Given the description of an element on the screen output the (x, y) to click on. 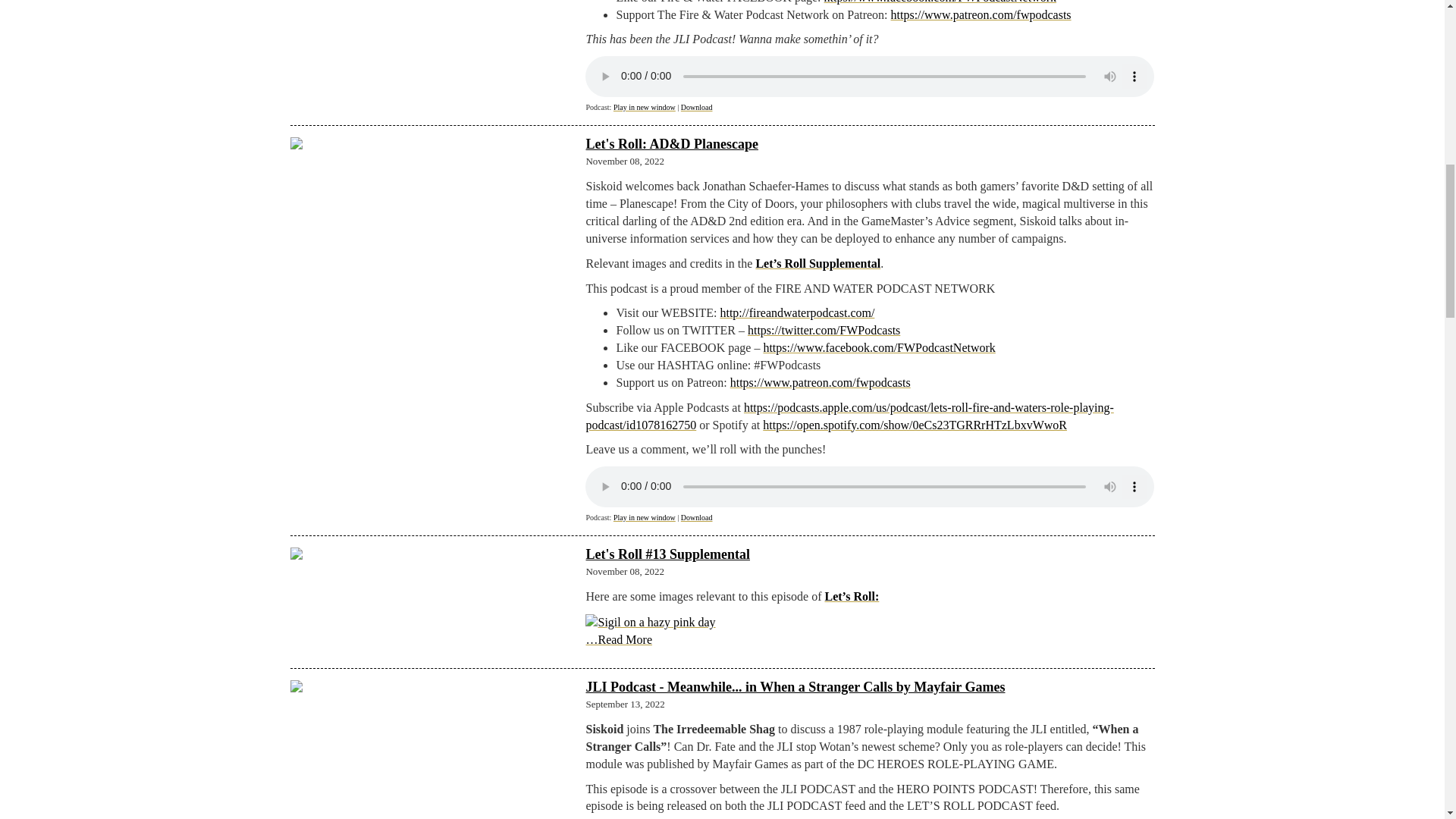
Play in new window (643, 517)
Download (697, 517)
Play in new window (643, 107)
Sigil on a hazy pink day (649, 622)
Play in new window (643, 107)
Download (697, 107)
Download (697, 107)
